Given the description of an element on the screen output the (x, y) to click on. 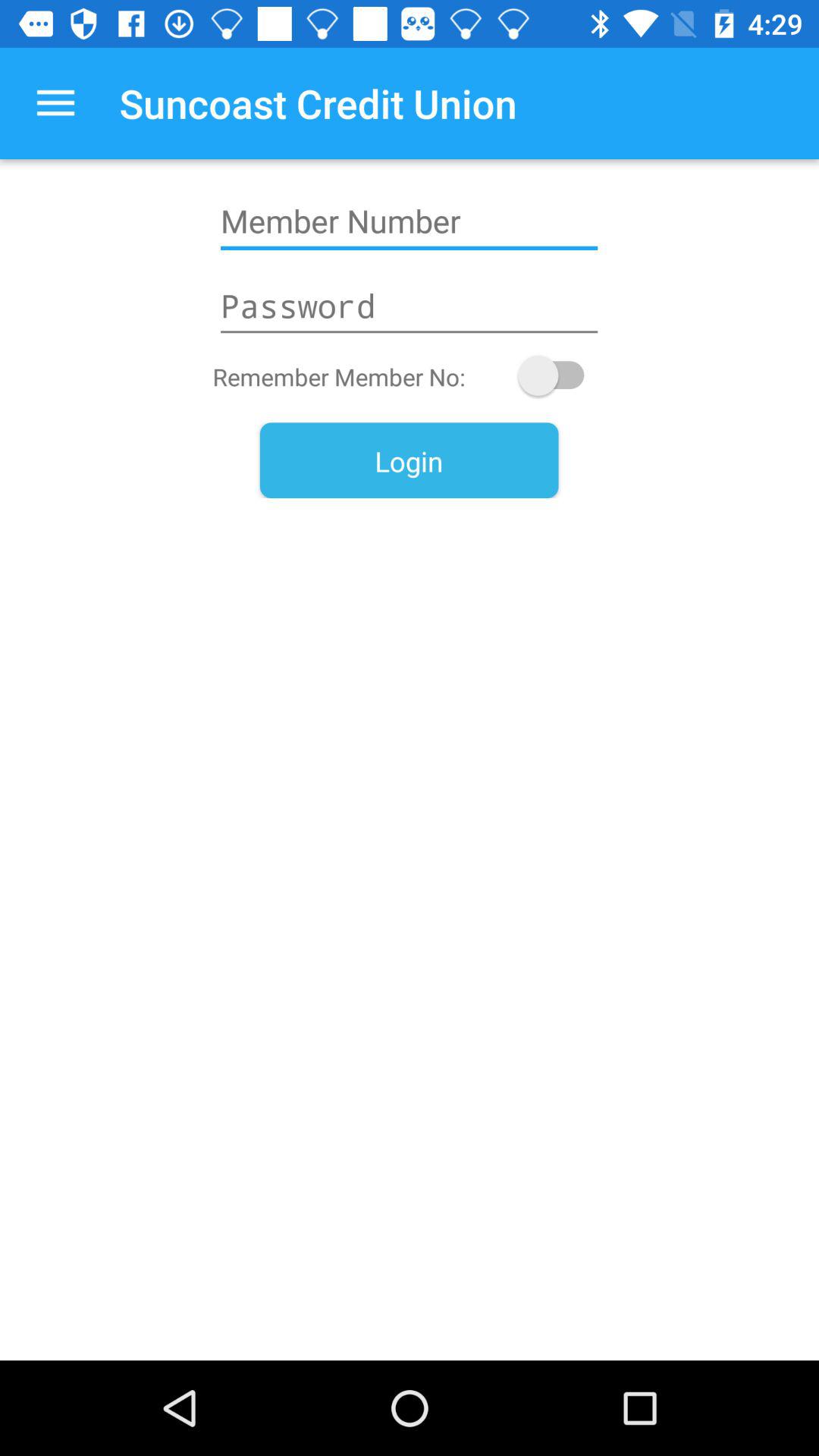
insert password for login (408, 305)
